Given the description of an element on the screen output the (x, y) to click on. 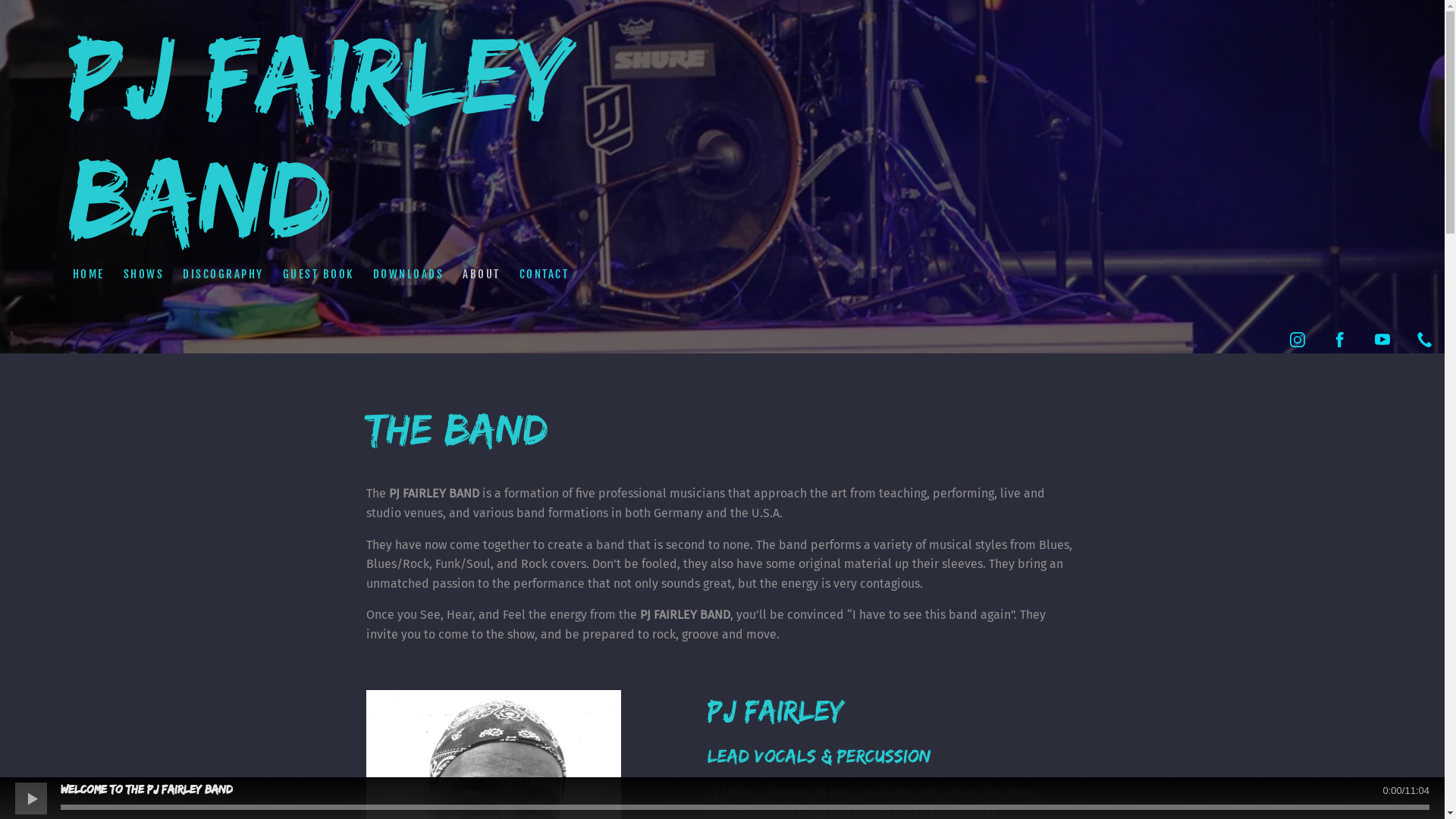
ABOUT Element type: text (480, 273)
https://www.facebook.com/Pj-Fairley-Band-114734906995017 Element type: hover (1339, 339)
https://instagram.com/tpjfb Element type: hover (1297, 339)
DISCOGRAPHY Element type: text (223, 273)
DOWNLOADS Element type: text (408, 273)
GUEST BOOK Element type: text (317, 273)
Play Element type: hover (30, 797)
CONTACT Element type: text (543, 273)
tel: +49 151 6701 7908 Element type: hover (1424, 339)
SHOWS Element type: text (143, 273)
PJ FAIRLEY BAND Element type: text (437, 227)
https://www.youtube.com/channel/UCk8BmJZ4G3F6ZtVg9CRwbxQ Element type: hover (1382, 339)
HOME Element type: text (87, 273)
